Given the description of an element on the screen output the (x, y) to click on. 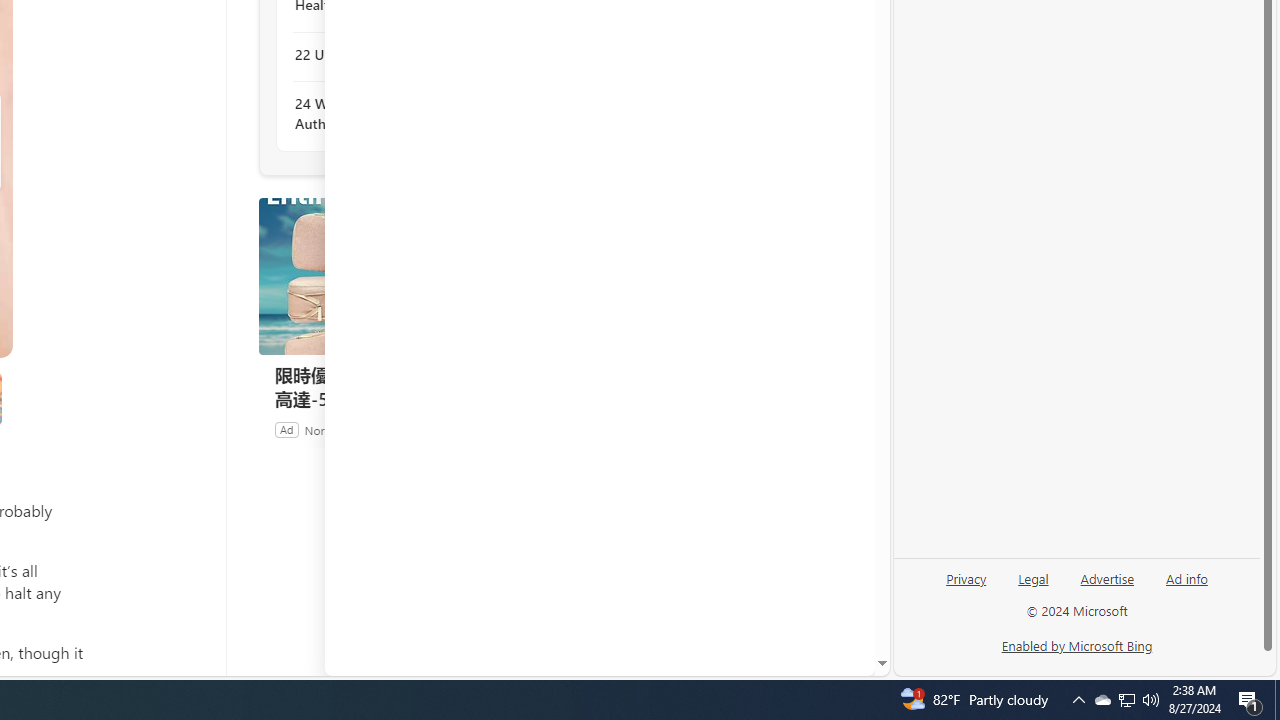
22 Underrated 70s Crime Movies (403, 53)
24 Ways Phones Are Destroying Authentic Relationships (403, 114)
